Given the description of an element on the screen output the (x, y) to click on. 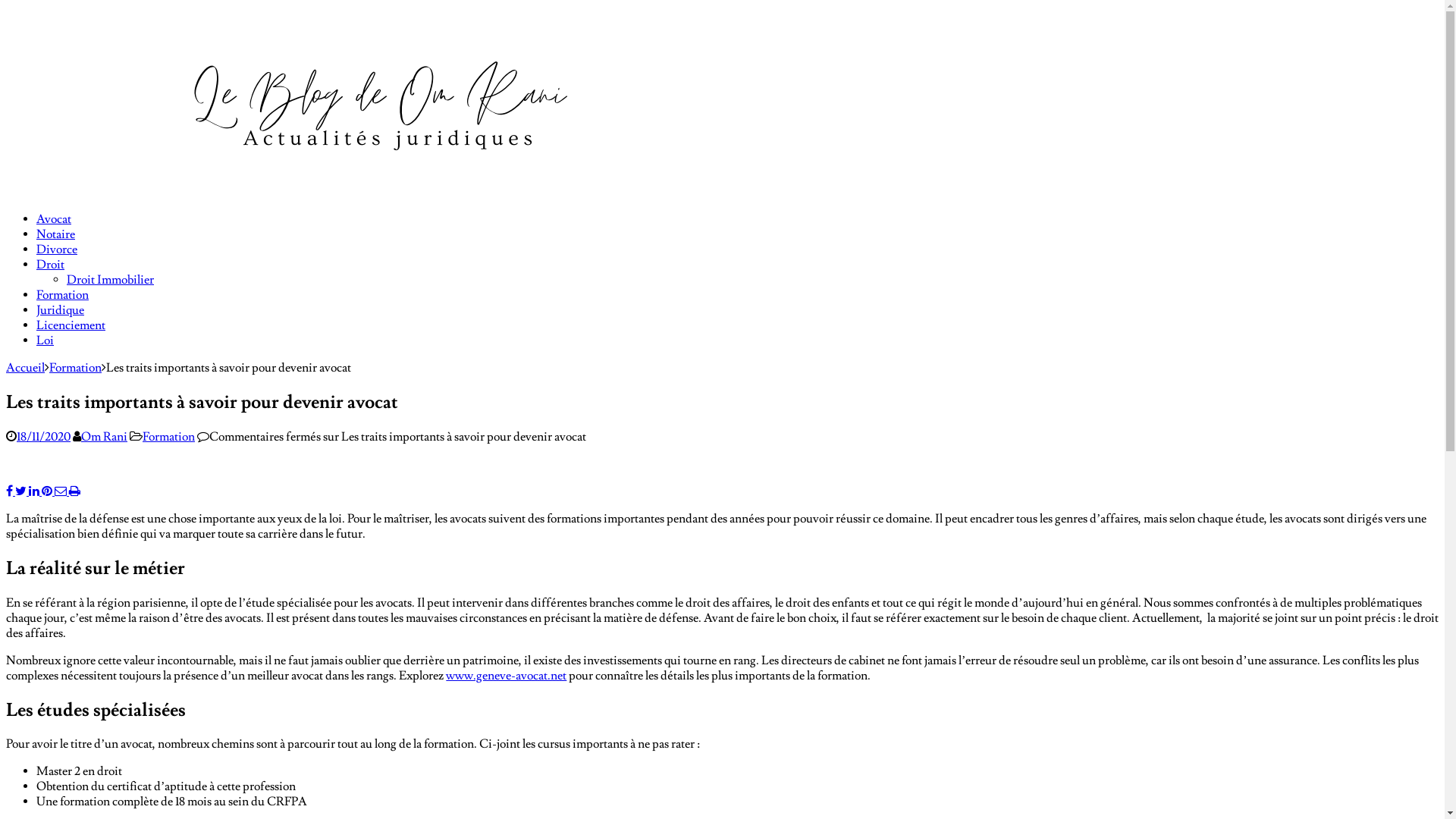
Juridique Element type: text (60, 309)
Send this article to a friend Element type: hover (61, 490)
Loi Element type: text (44, 340)
Divorce Element type: text (56, 249)
Tweeter cet article Element type: hover (21, 490)
18/11/2020 Element type: text (43, 436)
Print this article Element type: hover (74, 490)
Partager sur Facebook Element type: hover (10, 490)
Pin cet article Element type: hover (47, 490)
www.geneve-avocat.net Element type: text (505, 675)
Share on LinkedIn Element type: hover (34, 490)
Accueil Element type: text (25, 367)
Droit Element type: text (50, 264)
Licenciement Element type: text (70, 324)
Om Rani Element type: text (104, 436)
Notaire Element type: text (55, 233)
Droit Immobilier Element type: text (109, 279)
Avocat Element type: text (53, 218)
Formation Element type: text (75, 367)
Formation Element type: text (168, 436)
Formation Element type: text (62, 294)
